Given the description of an element on the screen output the (x, y) to click on. 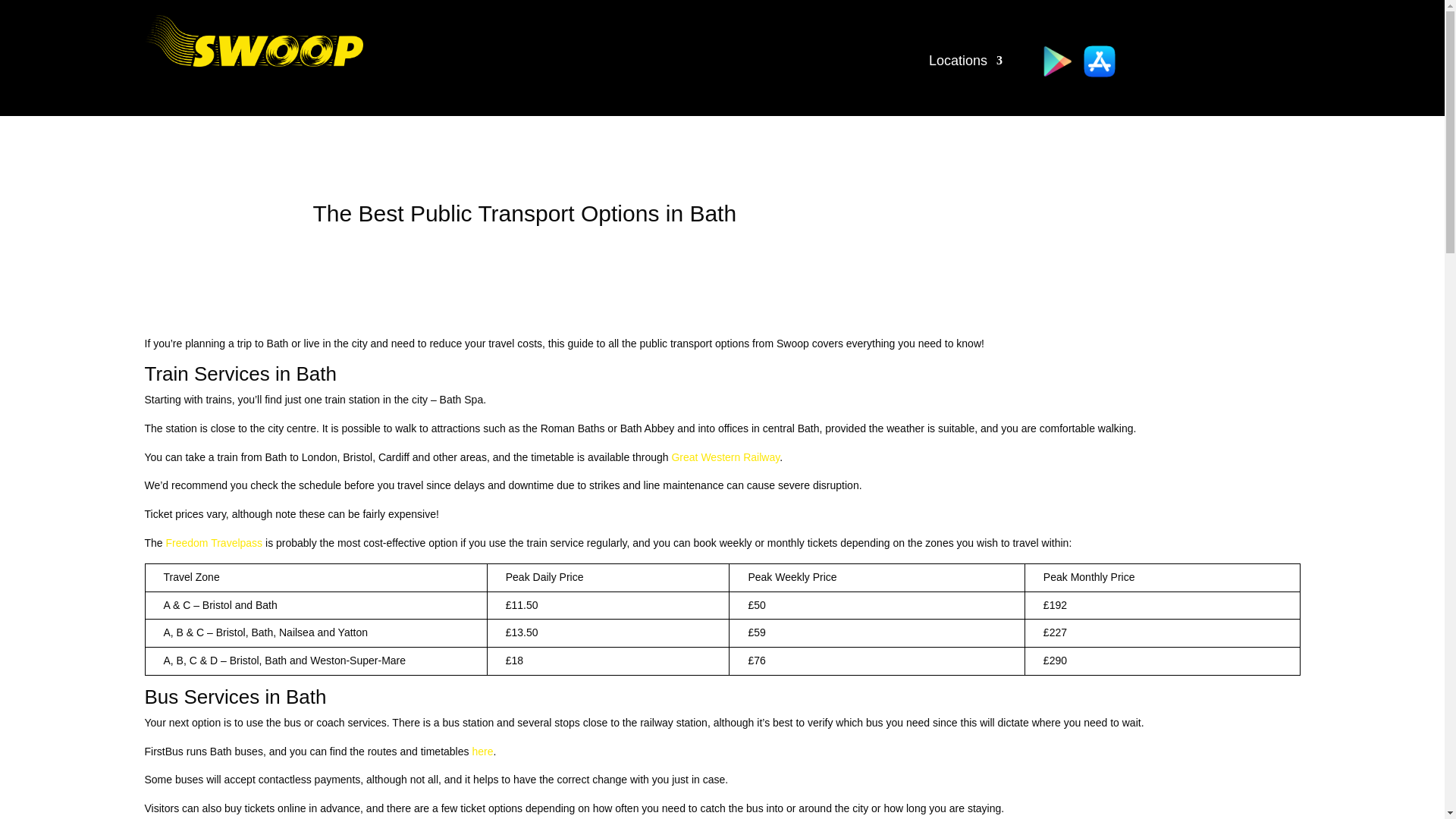
Locations (965, 63)
here (482, 751)
Freedom Travelpass (214, 542)
Great Western Railway (724, 457)
